Given the description of an element on the screen output the (x, y) to click on. 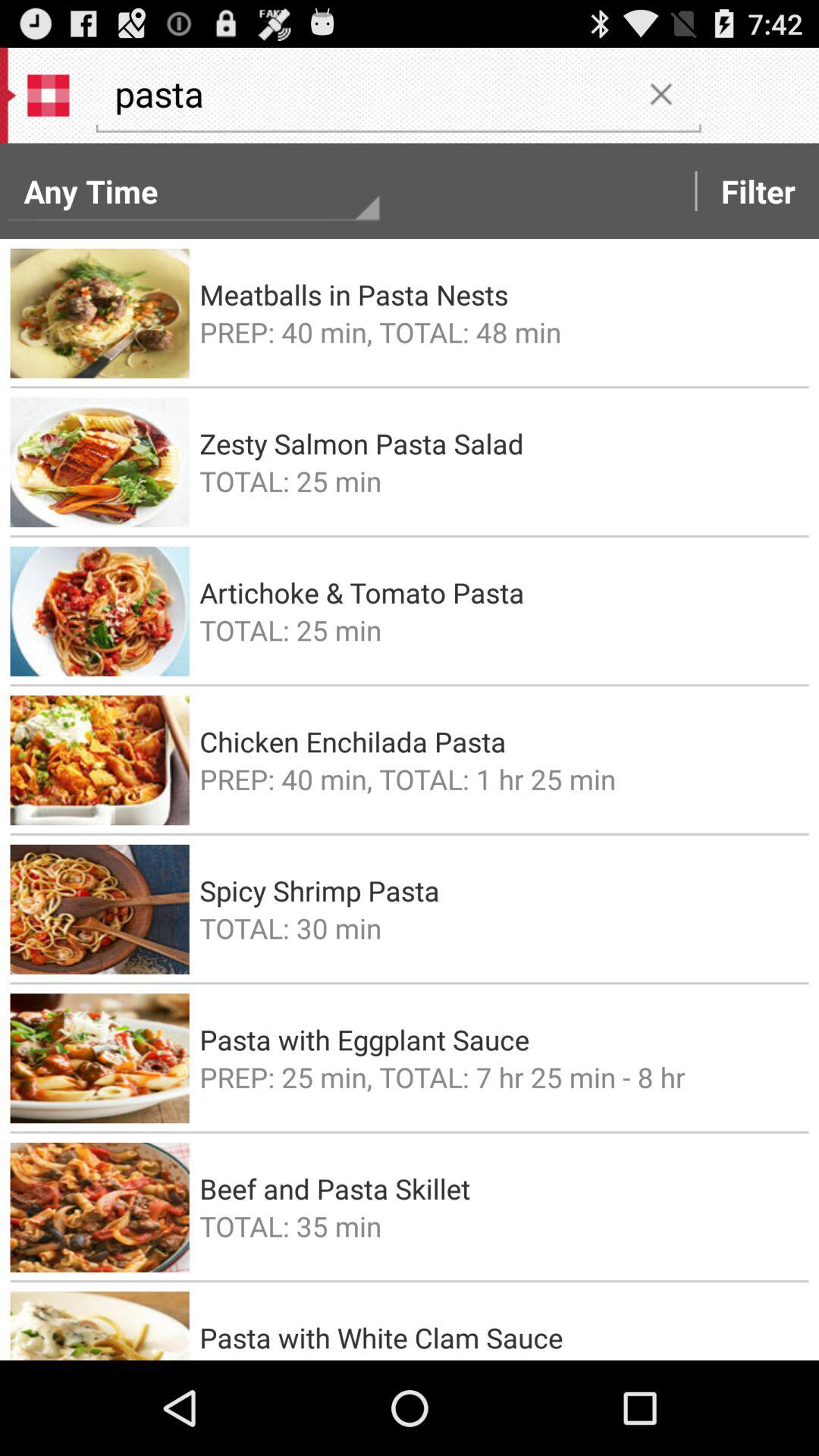
click item next to the pasta icon (660, 93)
